Given the description of an element on the screen output the (x, y) to click on. 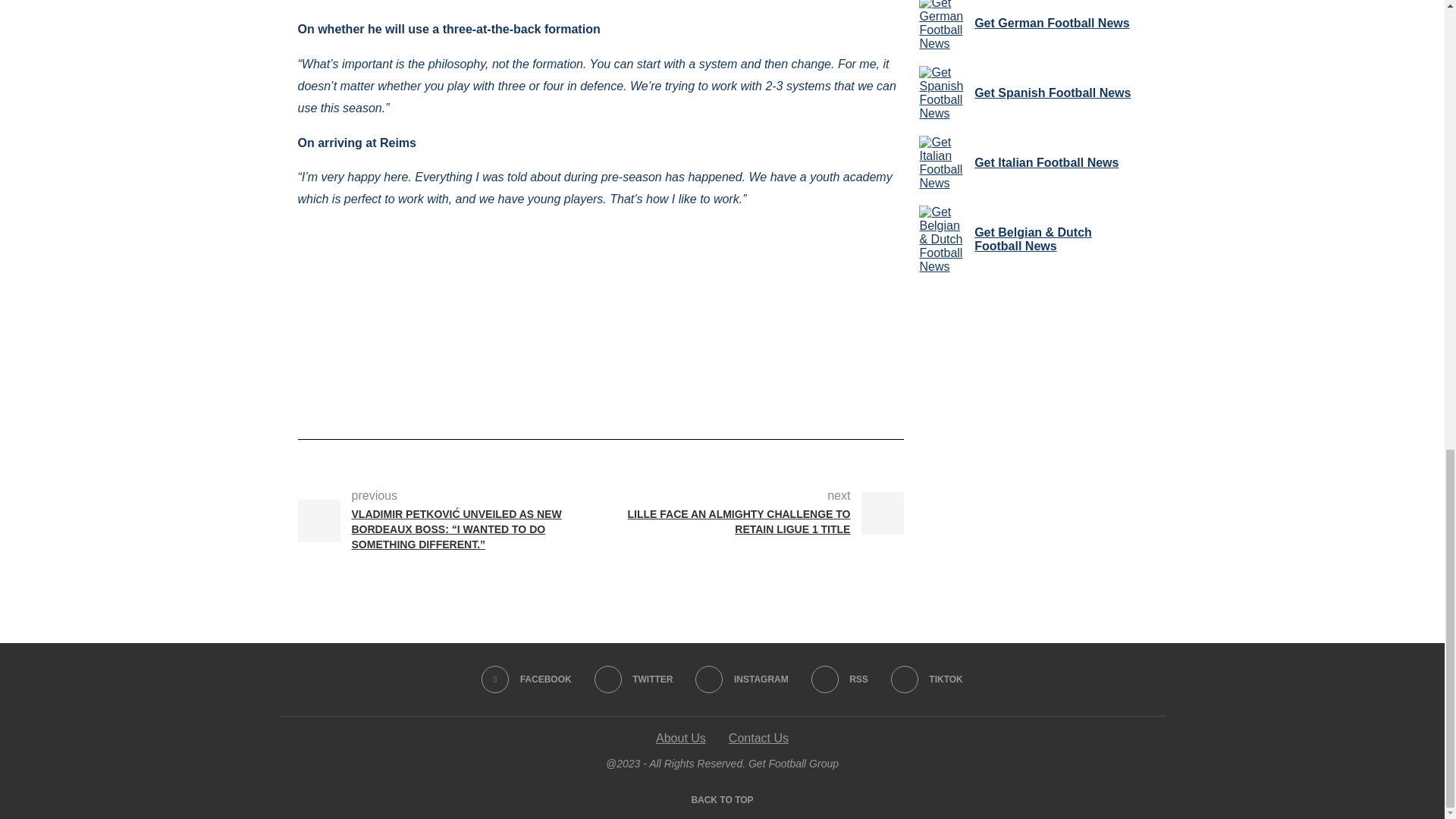
Get German Football News (943, 25)
Get Spanish Football News (943, 93)
Get Italian Football News (943, 162)
